Given the description of an element on the screen output the (x, y) to click on. 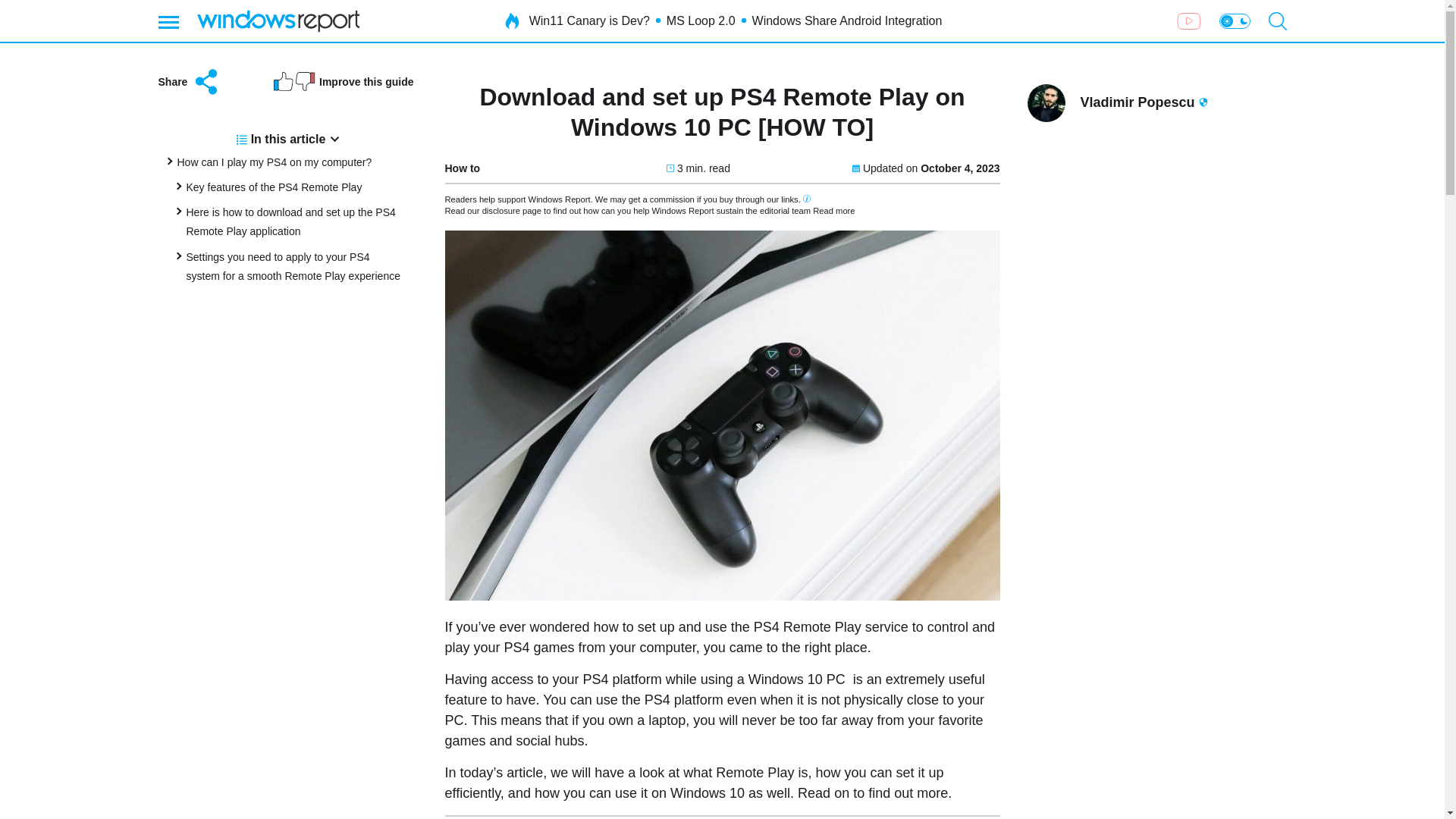
MS Loop 2.0 (700, 21)
Windows Share Android Integration (847, 21)
Open search bar (1276, 21)
Key features of the PS4 Remote Play (274, 186)
Share this article (189, 81)
How to (462, 168)
Win11 Canary is Dev? (589, 21)
Share (189, 81)
